Given the description of an element on the screen output the (x, y) to click on. 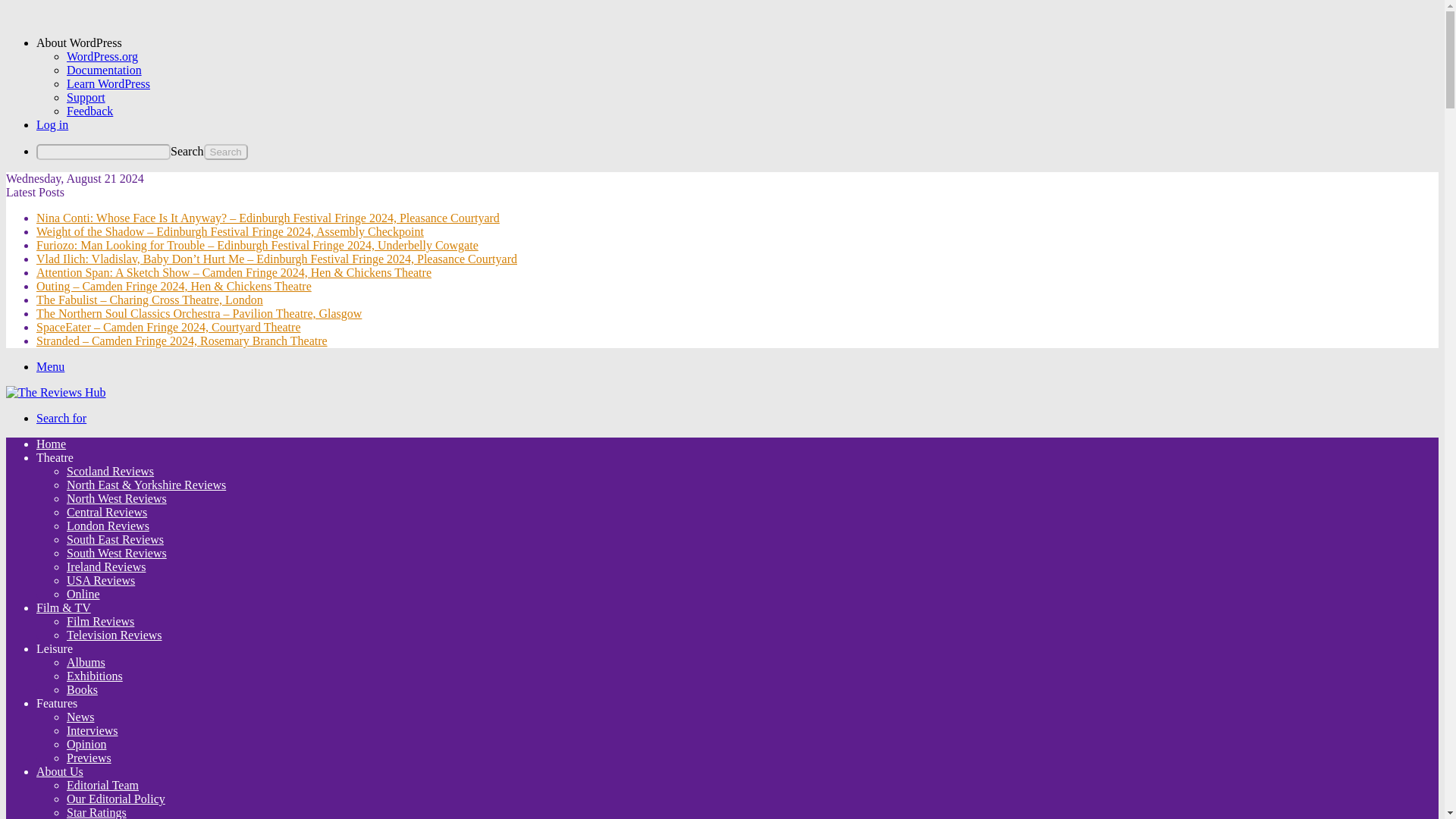
Features (56, 703)
Feedback (89, 110)
Albums (85, 662)
Menu (50, 366)
Scotland Reviews (110, 471)
Online (83, 594)
Search for (60, 418)
The Reviews Hub (55, 391)
South West Reviews (116, 553)
Central Reviews (106, 512)
